Given the description of an element on the screen output the (x, y) to click on. 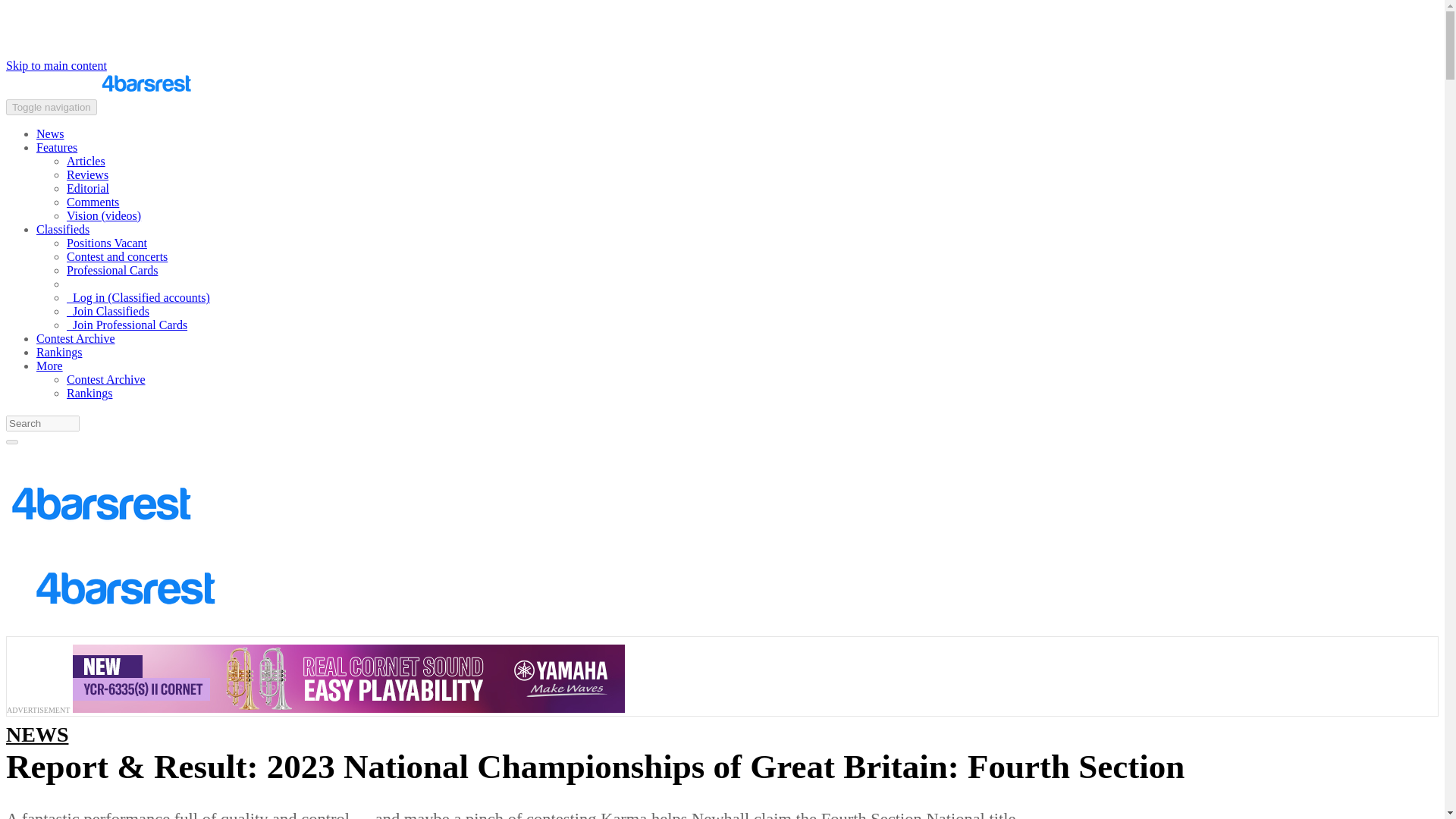
  Join Professional Cards (126, 324)
Reviews (86, 174)
  Join Classifieds (107, 310)
Contest Archive (105, 379)
Rankings (58, 351)
Editorial (87, 187)
Skip to main content (55, 65)
Articles (85, 160)
Contest and concerts (116, 256)
Features (56, 146)
